Given the description of an element on the screen output the (x, y) to click on. 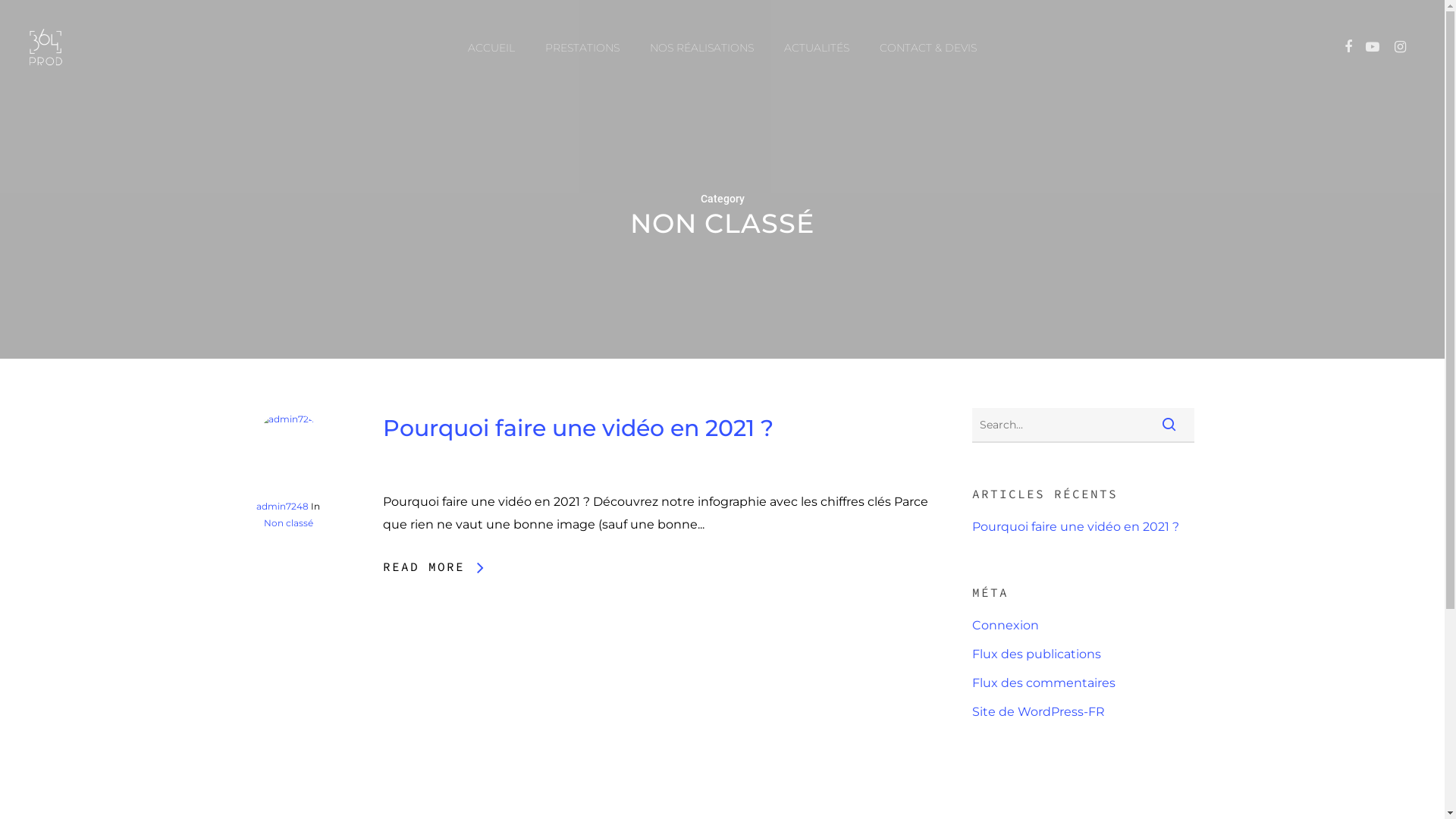
Flux des commentaires Element type: text (1083, 682)
instagram Element type: text (775, 709)
admin7248 Element type: text (282, 505)
READ MORE Element type: text (432, 566)
YOUTUBE Element type: text (1372, 47)
ACCUEIL Element type: text (490, 47)
CONTACT & DEVIS Element type: text (927, 47)
FACEBOOK Element type: text (1347, 47)
youtube Element type: text (722, 709)
PRESTATIONS Element type: text (582, 47)
Site de WordPress-FR Element type: text (1083, 711)
facebook Element type: text (669, 709)
Search for: Element type: hover (1083, 424)
INSTAGRAM Element type: text (1399, 47)
Connexion Element type: text (1083, 625)
Flux des publications Element type: text (1083, 654)
